Given the description of an element on the screen output the (x, y) to click on. 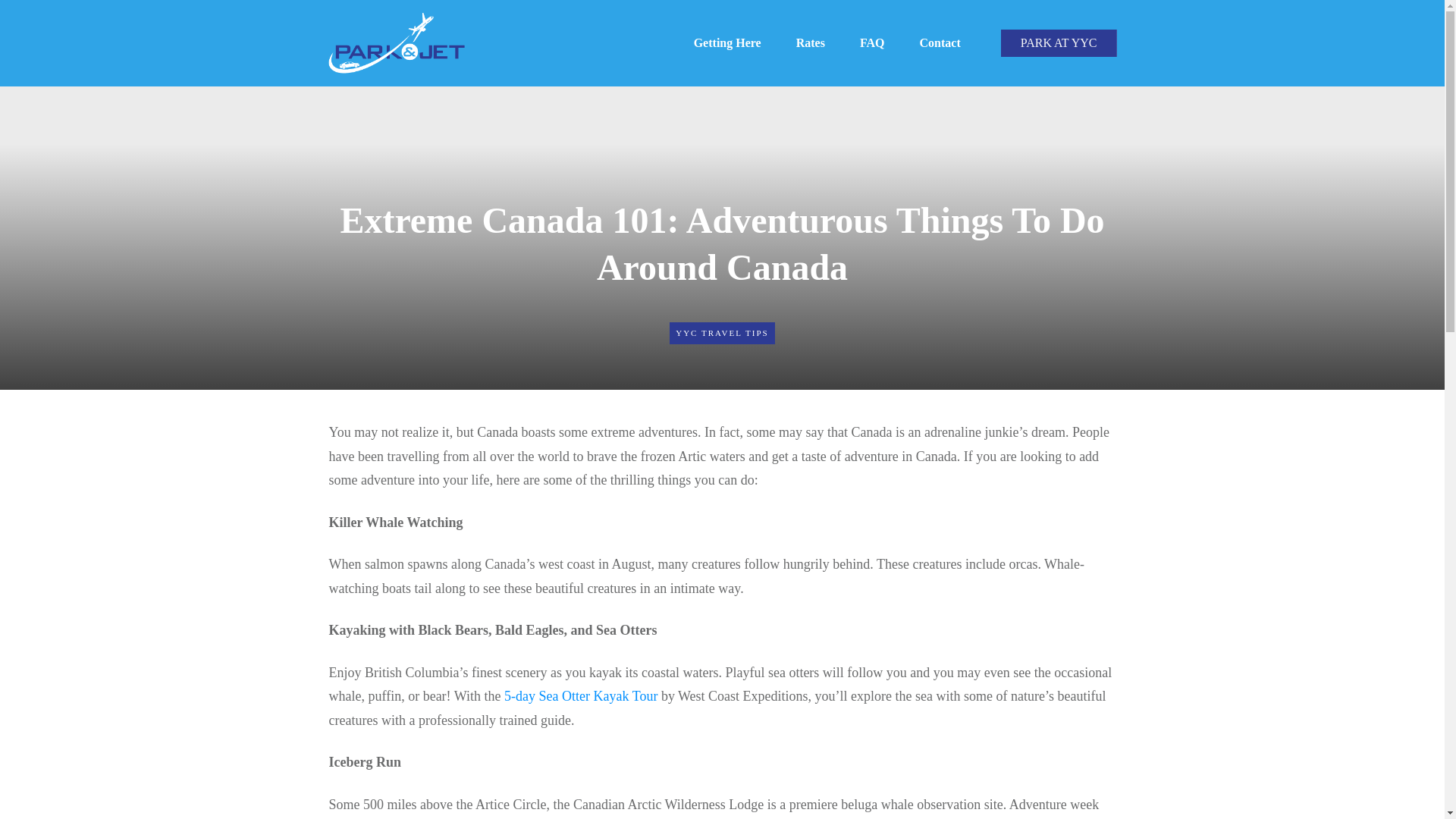
Rates (810, 43)
YYC TRAVEL TIPS (721, 332)
YYC Travel Tips (721, 332)
Contact (938, 43)
Getting Here (727, 43)
FAQ (872, 43)
PARK AT YYC (1058, 43)
5-day Sea Otter Kayak Tour (580, 695)
